Given the description of an element on the screen output the (x, y) to click on. 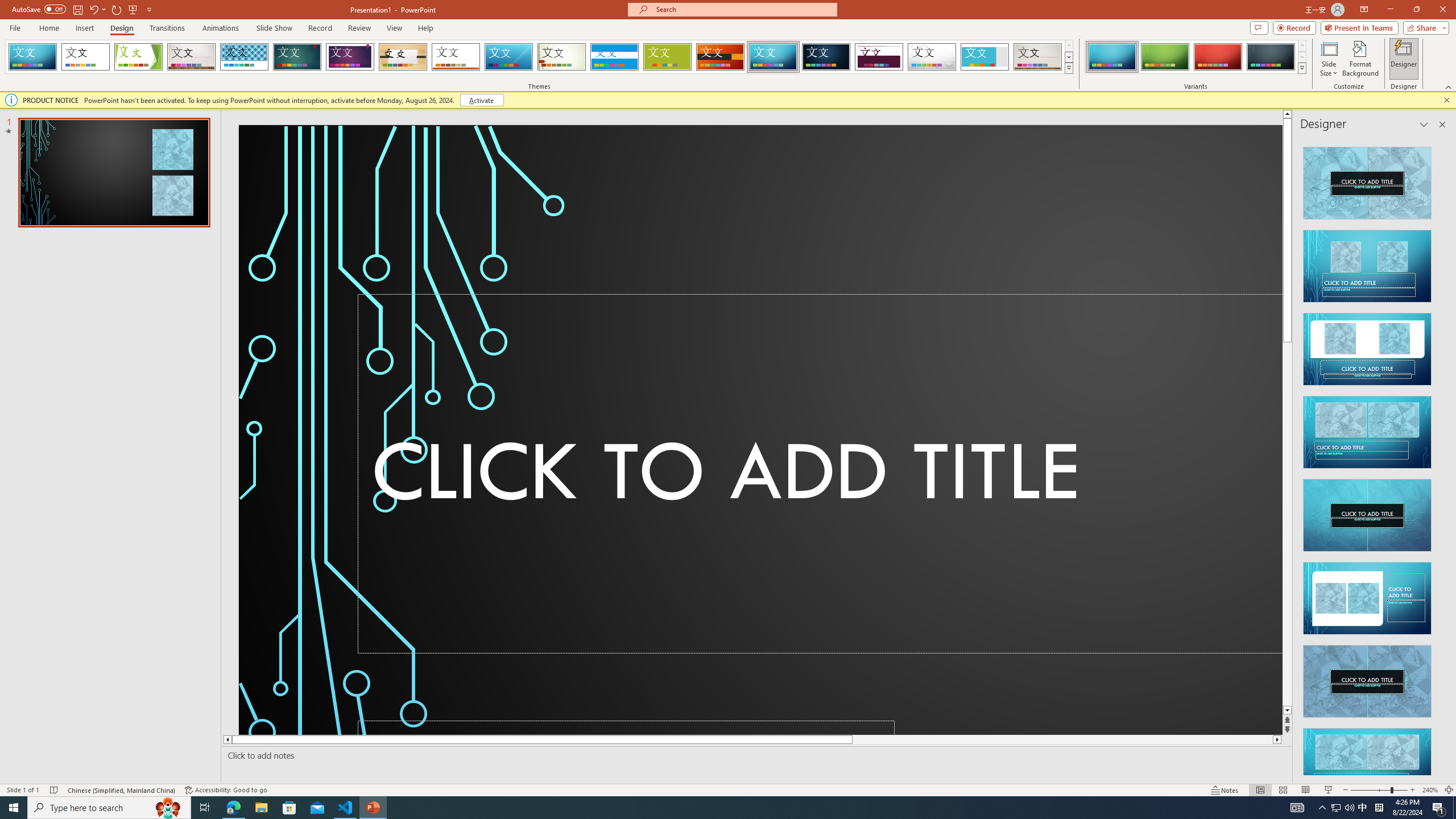
Row up (1301, 45)
Design (122, 28)
Designer (1403, 58)
Spell Check No Errors (54, 790)
Class: NetUIImage (1302, 68)
Banded (614, 56)
